Given the description of an element on the screen output the (x, y) to click on. 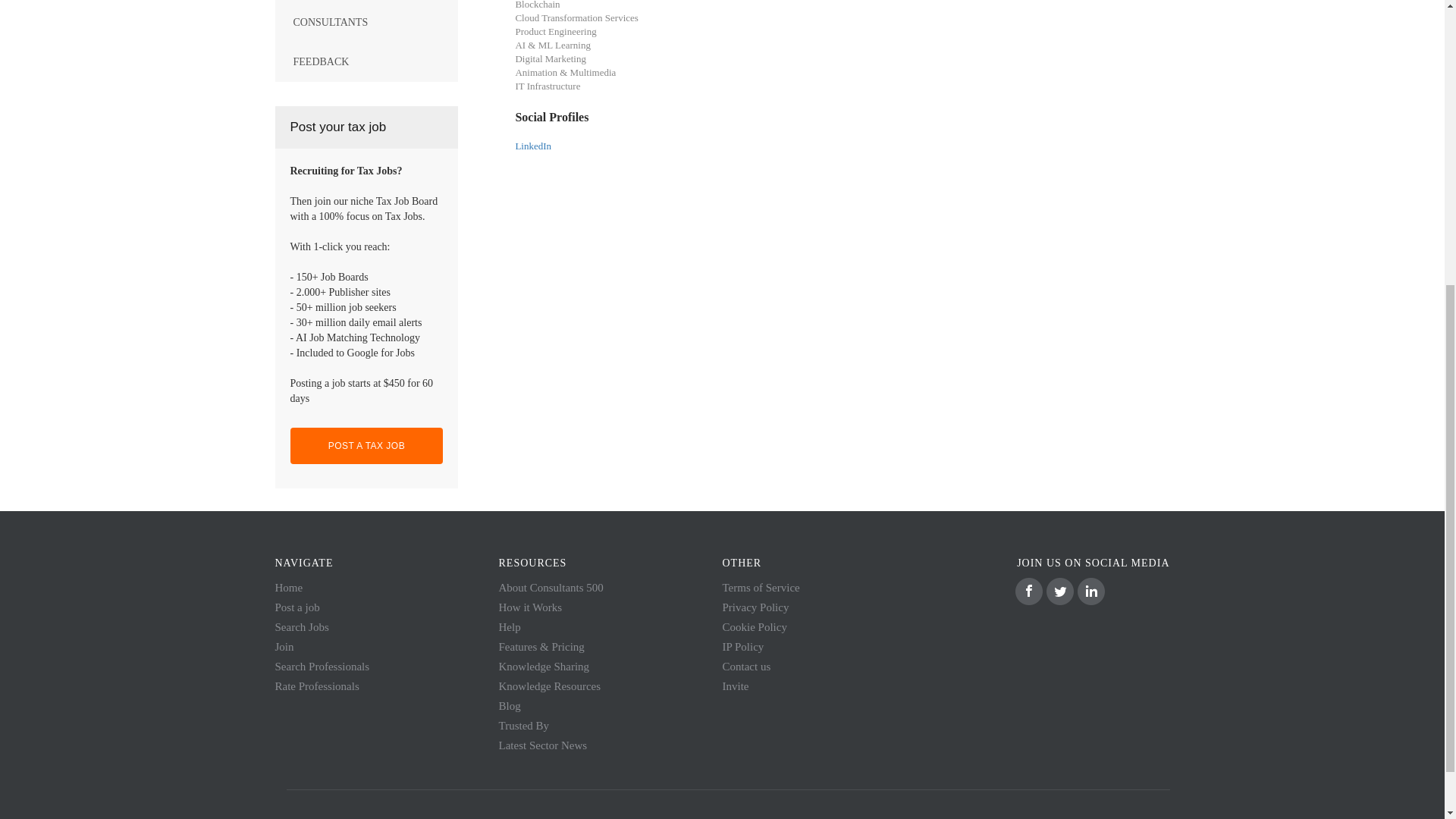
Search Jobs (302, 626)
How it Works (530, 607)
Knowledge Sharing (544, 666)
Help (510, 626)
Cookie Policy (754, 626)
FEEDBACK (366, 61)
IP Policy (742, 646)
Rate Professionals (316, 686)
Contact us (746, 666)
Post a job (296, 607)
